Given the description of an element on the screen output the (x, y) to click on. 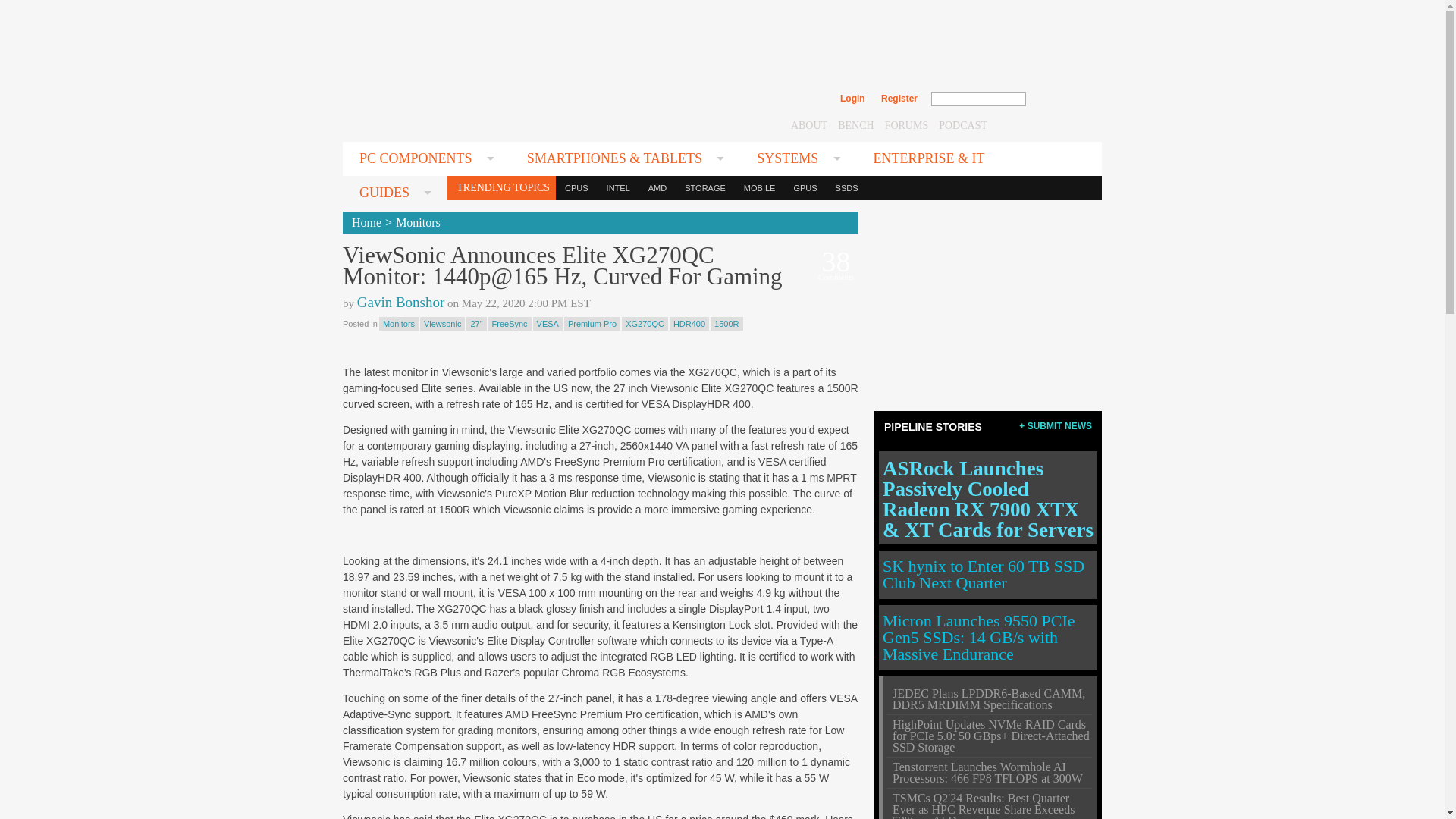
FORUMS (906, 125)
search (1059, 98)
search (1059, 98)
Login (852, 98)
PODCAST (963, 125)
Register (898, 98)
BENCH (855, 125)
search (1059, 98)
ABOUT (808, 125)
